Given the description of an element on the screen output the (x, y) to click on. 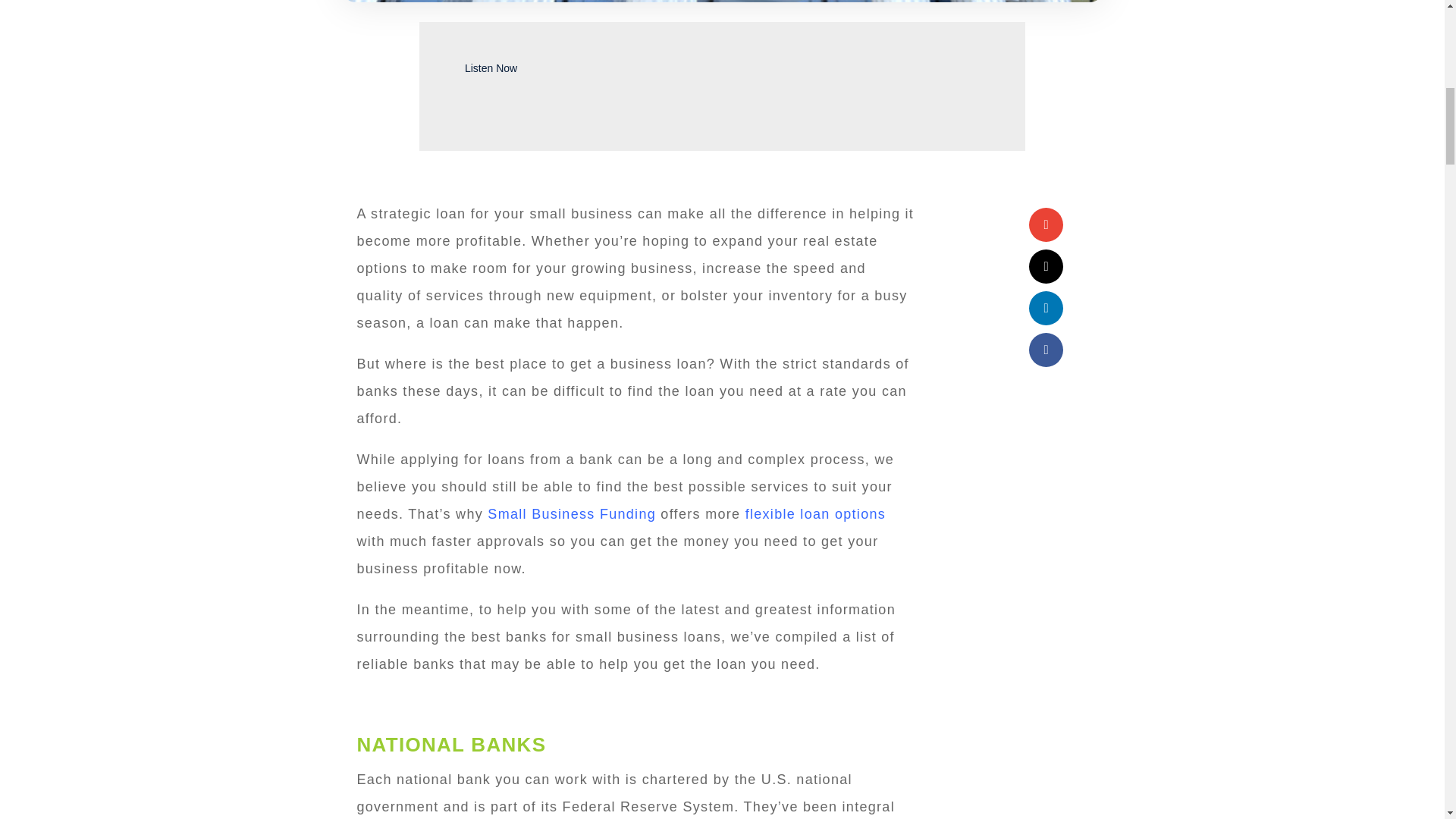
flexible loan options (815, 513)
Small Business Funding (571, 513)
